Given the description of an element on the screen output the (x, y) to click on. 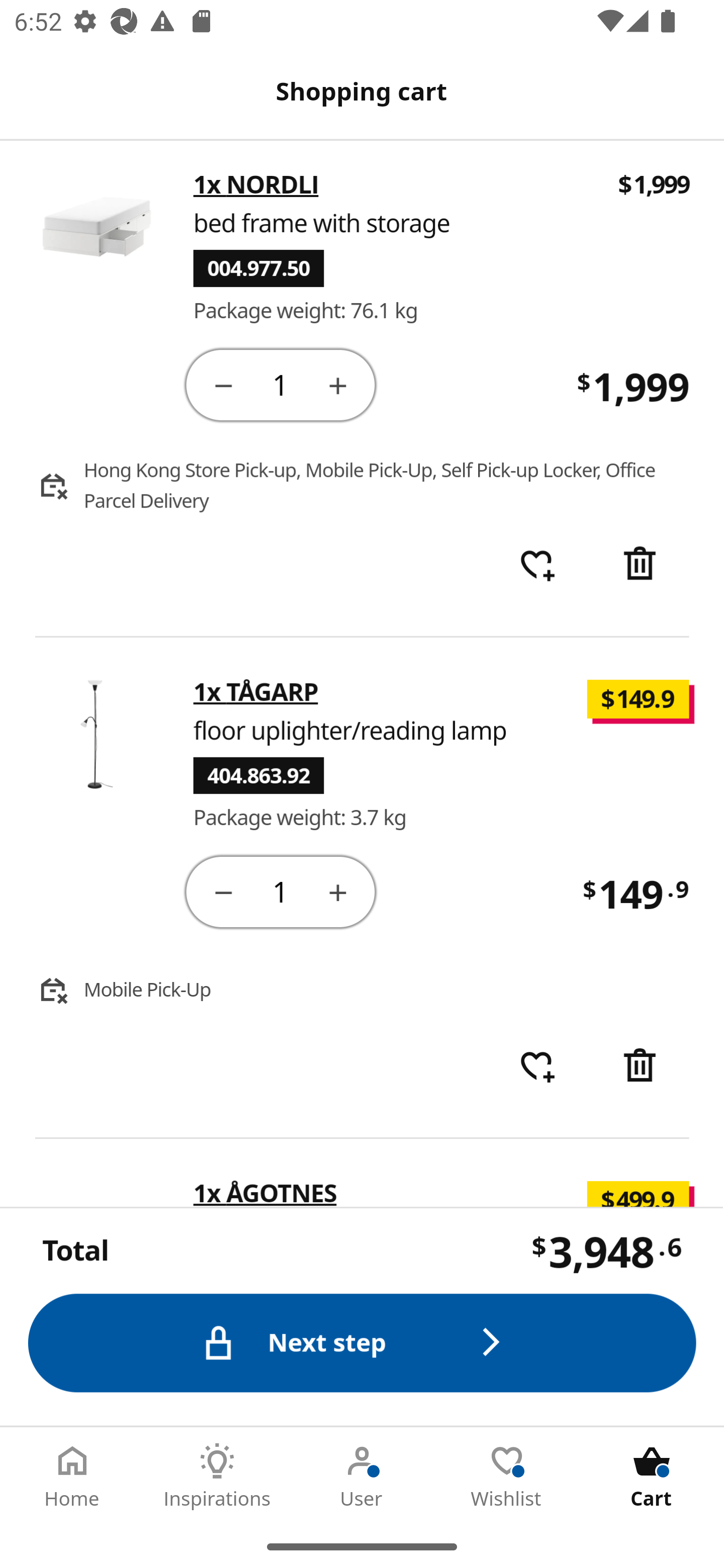
1x  NORDLI 1x  NORDLI (256, 186)
1 (281, 385)
 (223, 386)
 (338, 386)
  (536, 567)
 (641, 567)
1x  TÅGARP 1x  TÅGARP (256, 692)
1 (281, 892)
 (223, 893)
 (338, 893)
  (536, 1067)
 (641, 1067)
1x  ÅGOTNES 1x  ÅGOTNES (265, 1194)
Home
Tab 1 of 5 (72, 1476)
Inspirations
Tab 2 of 5 (216, 1476)
User
Tab 3 of 5 (361, 1476)
Wishlist
Tab 4 of 5 (506, 1476)
Cart
Tab 5 of 5 (651, 1476)
